Given the description of an element on the screen output the (x, y) to click on. 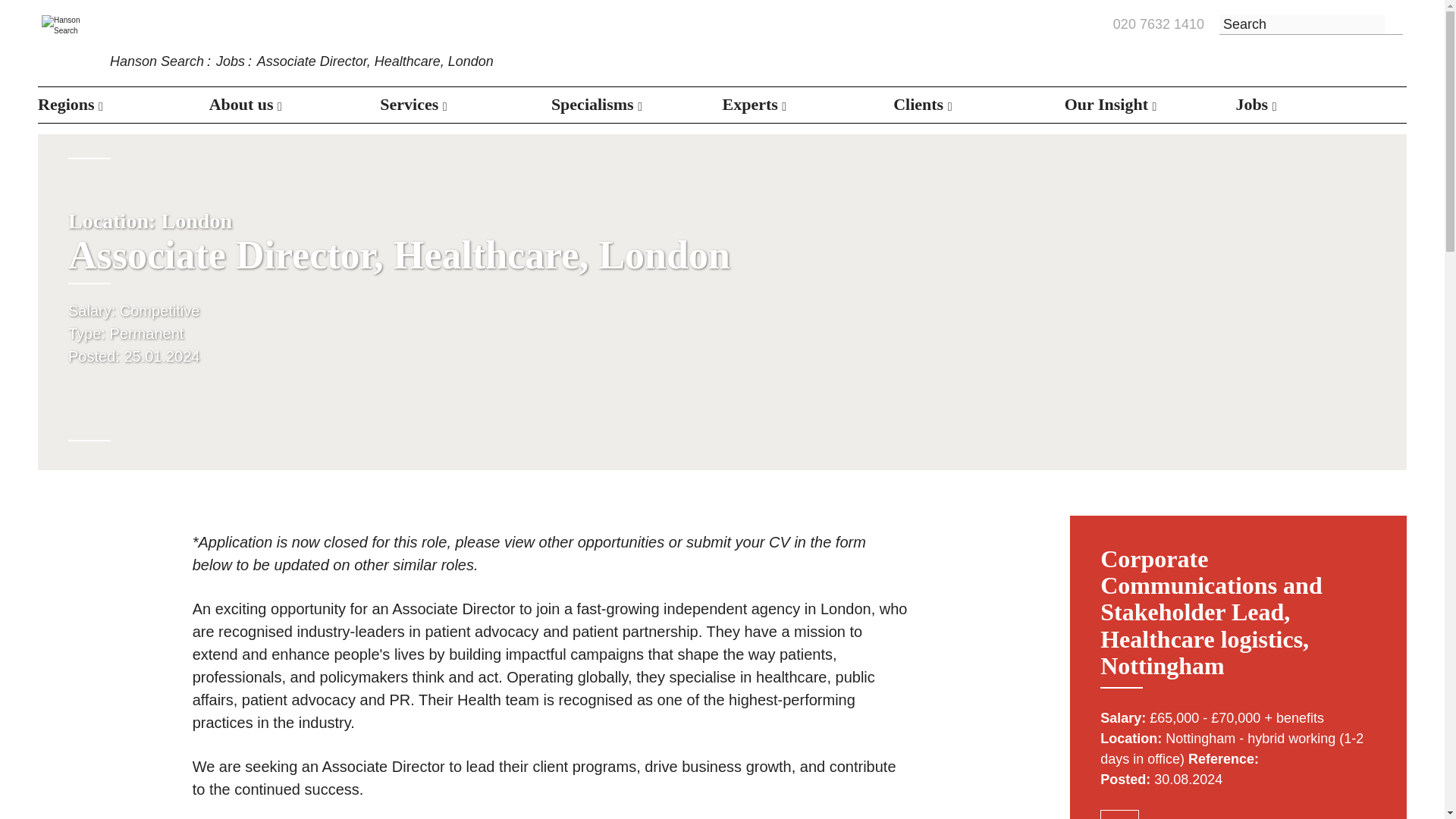
Search (1393, 25)
020 7632 1410 (1158, 25)
Jobs (229, 61)
Hanson Search (156, 61)
Search (1393, 25)
Associate Director, Healthcare, London (375, 61)
